Given the description of an element on the screen output the (x, y) to click on. 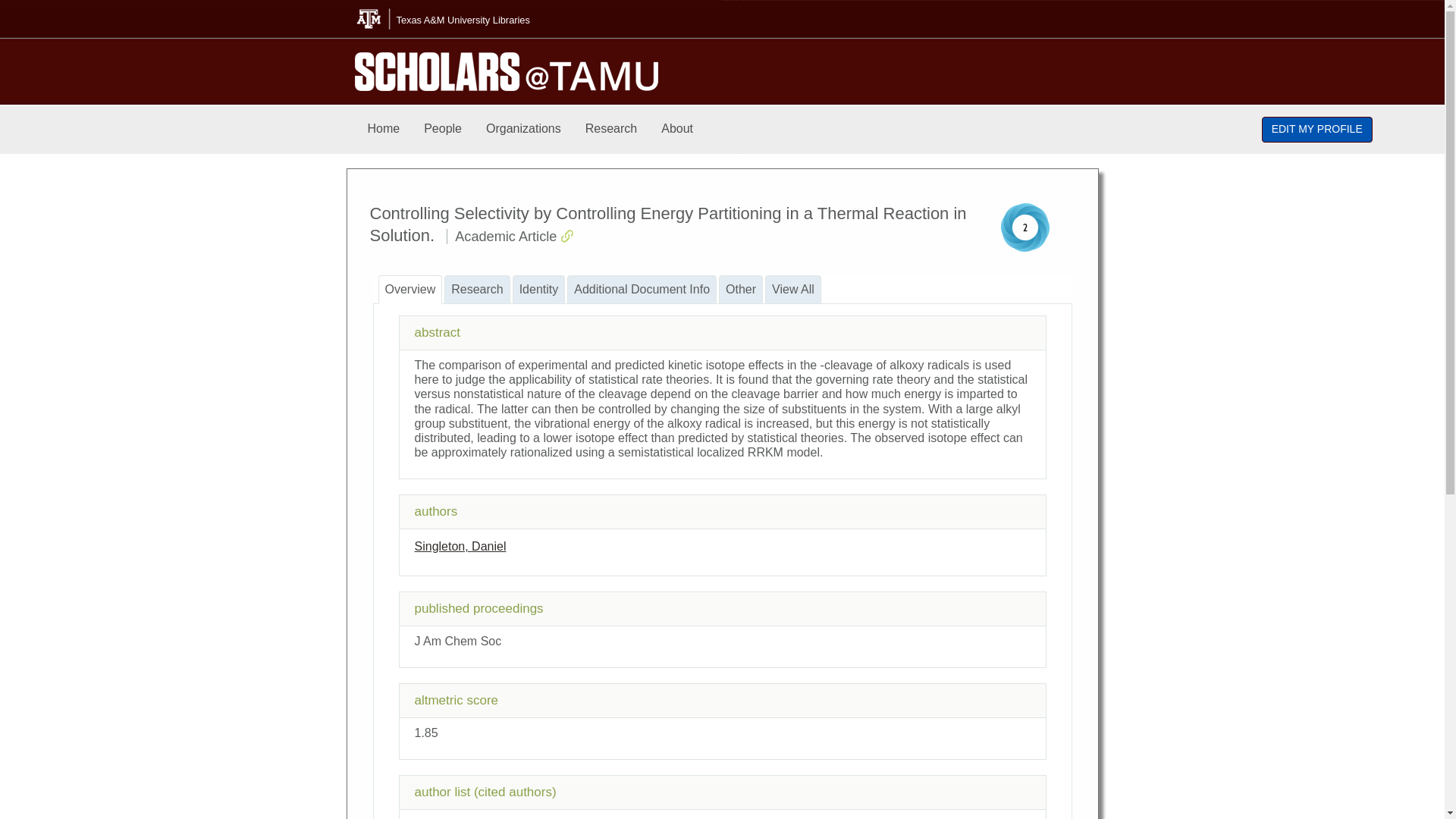
People (443, 128)
Singleton, Daniel (459, 545)
author name (459, 545)
Home menu item (383, 128)
About (676, 128)
EDIT MY PROFILE (1317, 129)
Research (611, 128)
Organizations (523, 128)
People menu item (443, 128)
About menu item (676, 128)
Organizations menu item (523, 128)
Home (383, 128)
Research menu item (611, 128)
